Given the description of an element on the screen output the (x, y) to click on. 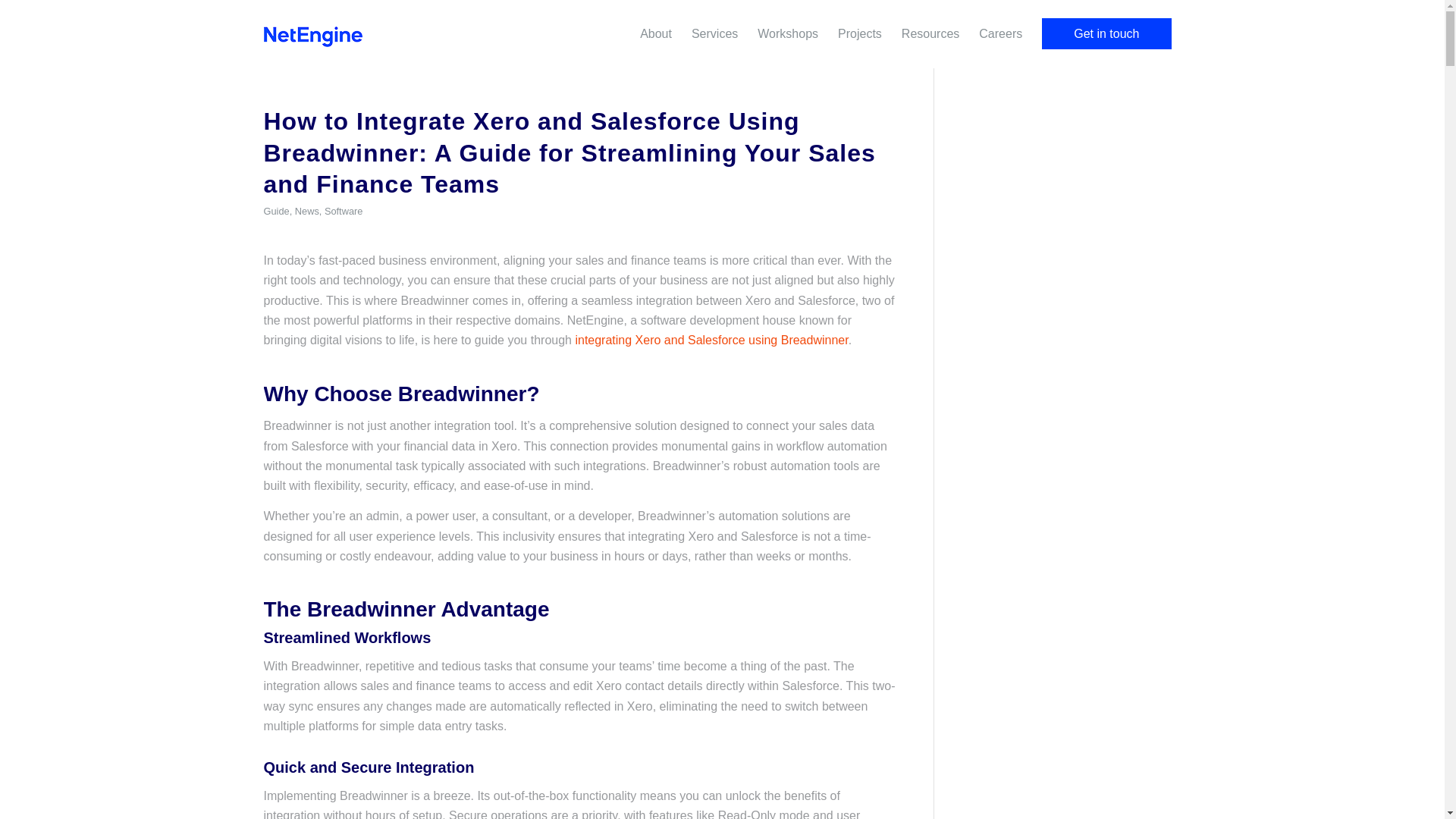
Workshops (788, 33)
Software (343, 211)
Services (714, 33)
Guide (276, 211)
Get in touch (1106, 33)
News (306, 211)
integrating Xero and Salesforce using Breadwinner (711, 339)
Careers (1000, 33)
Resources (930, 33)
Projects (859, 33)
